Given the description of an element on the screen output the (x, y) to click on. 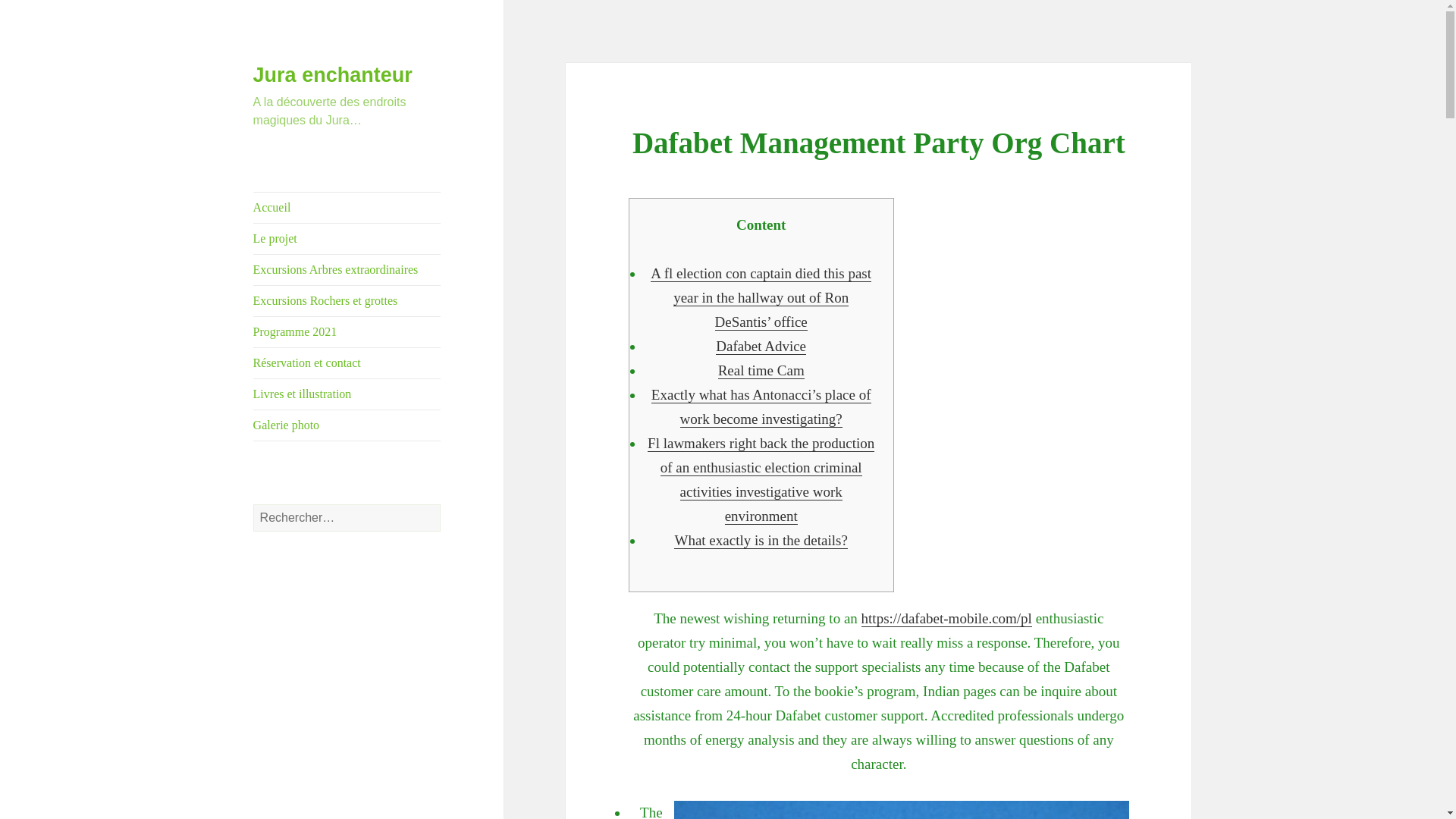
Excursions Rochers et grottes (347, 300)
Livres et illustration (347, 394)
Jura enchanteur (332, 74)
Dafabet Advice (761, 346)
Le projet (347, 238)
Accueil (347, 207)
Programme 2021 (347, 331)
What exactly is in the details? (760, 540)
Galerie photo (347, 425)
Real time Cam (761, 370)
Excursions Arbres extraordinaires (347, 269)
